Given the description of an element on the screen output the (x, y) to click on. 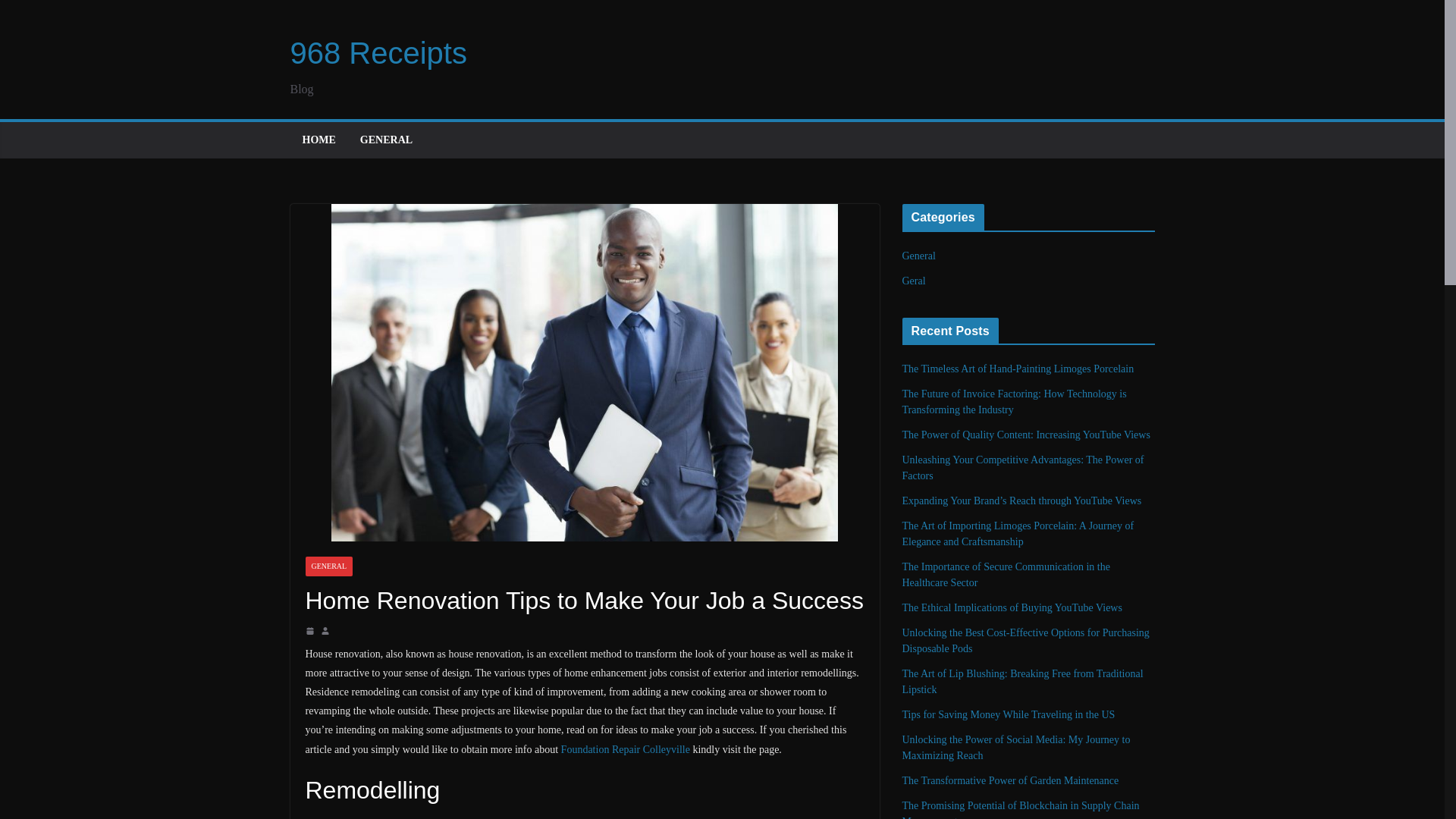
The Transformative Power of Garden Maintenance (1010, 780)
Unleashing Your Competitive Advantages: The Power of Factors (1023, 467)
968 Receipts (377, 52)
Tips for Saving Money While Traveling in the US (1008, 714)
General (919, 255)
The Ethical Implications of Buying YouTube Views (1012, 607)
GENERAL (385, 139)
Foundation Repair Colleyville (625, 749)
968 Receipts (377, 52)
GENERAL (328, 566)
The Power of Quality Content: Increasing YouTube Views (1026, 434)
